Given the description of an element on the screen output the (x, y) to click on. 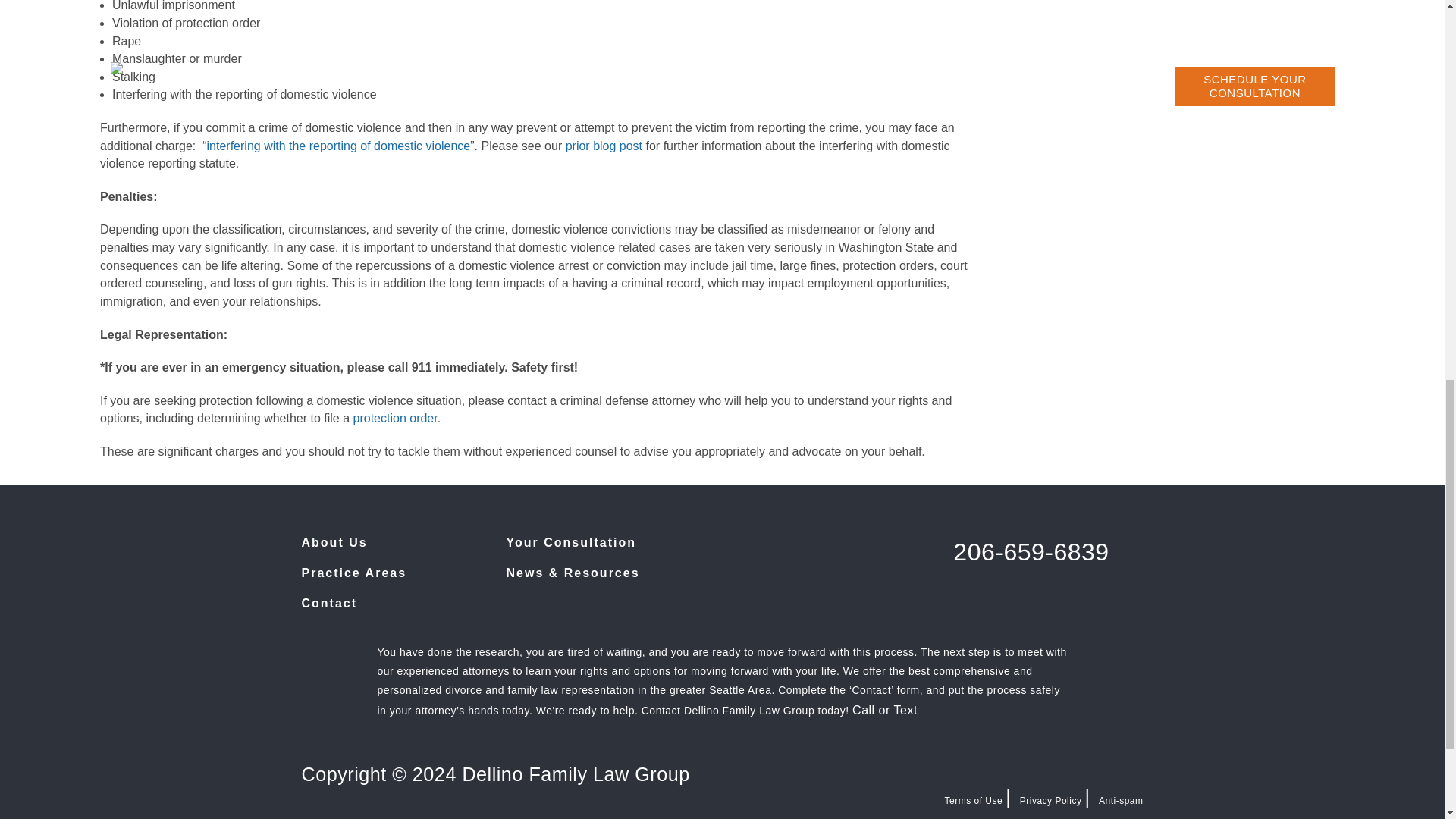
interfering with the reporting of domestic violence (338, 145)
About Us (334, 542)
protection order (395, 418)
prior blog post (604, 145)
